Given the description of an element on the screen output the (x, y) to click on. 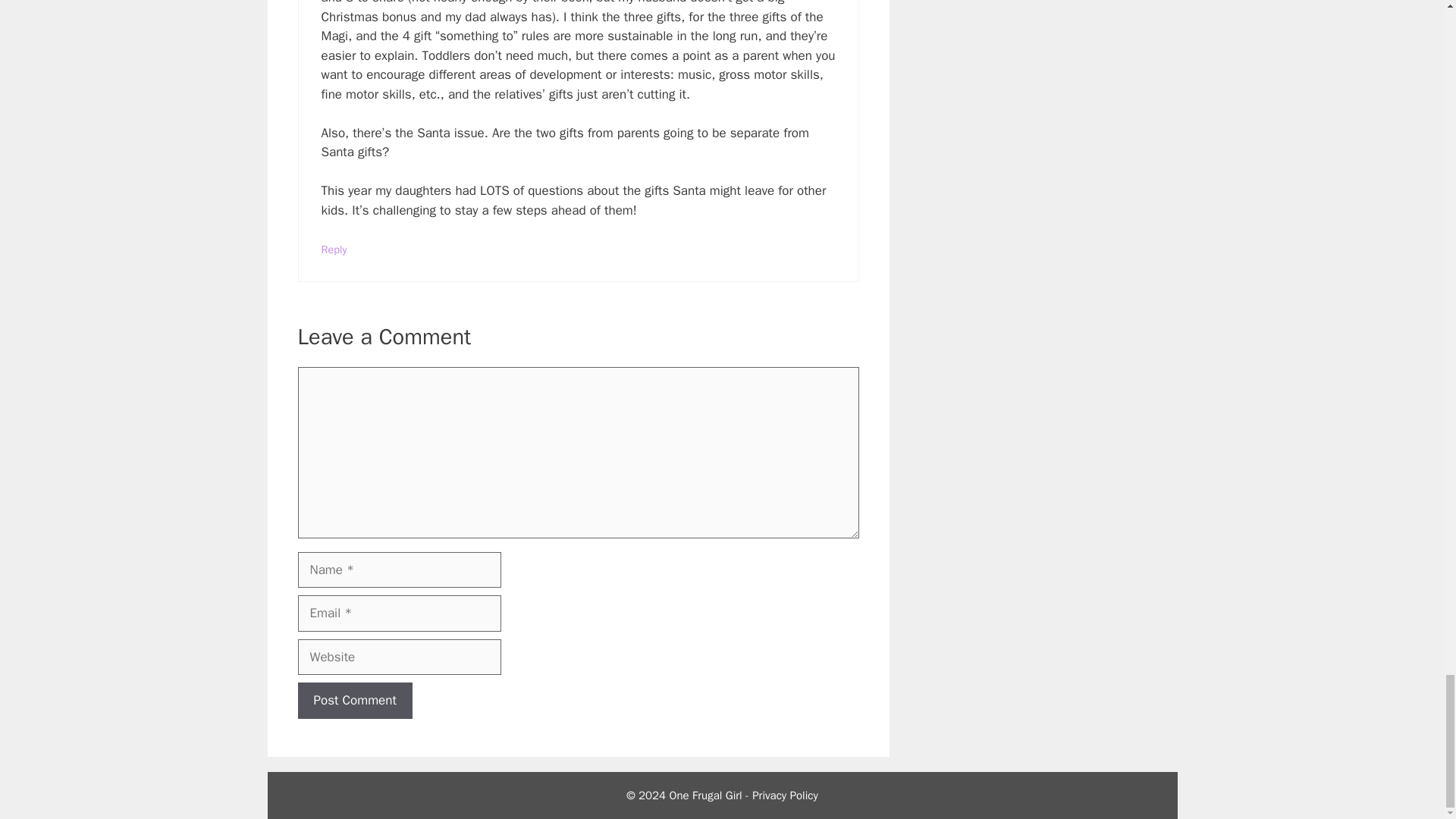
Post Comment (354, 700)
Privacy Policy (785, 795)
Reply (334, 248)
Post Comment (354, 700)
